Given the description of an element on the screen output the (x, y) to click on. 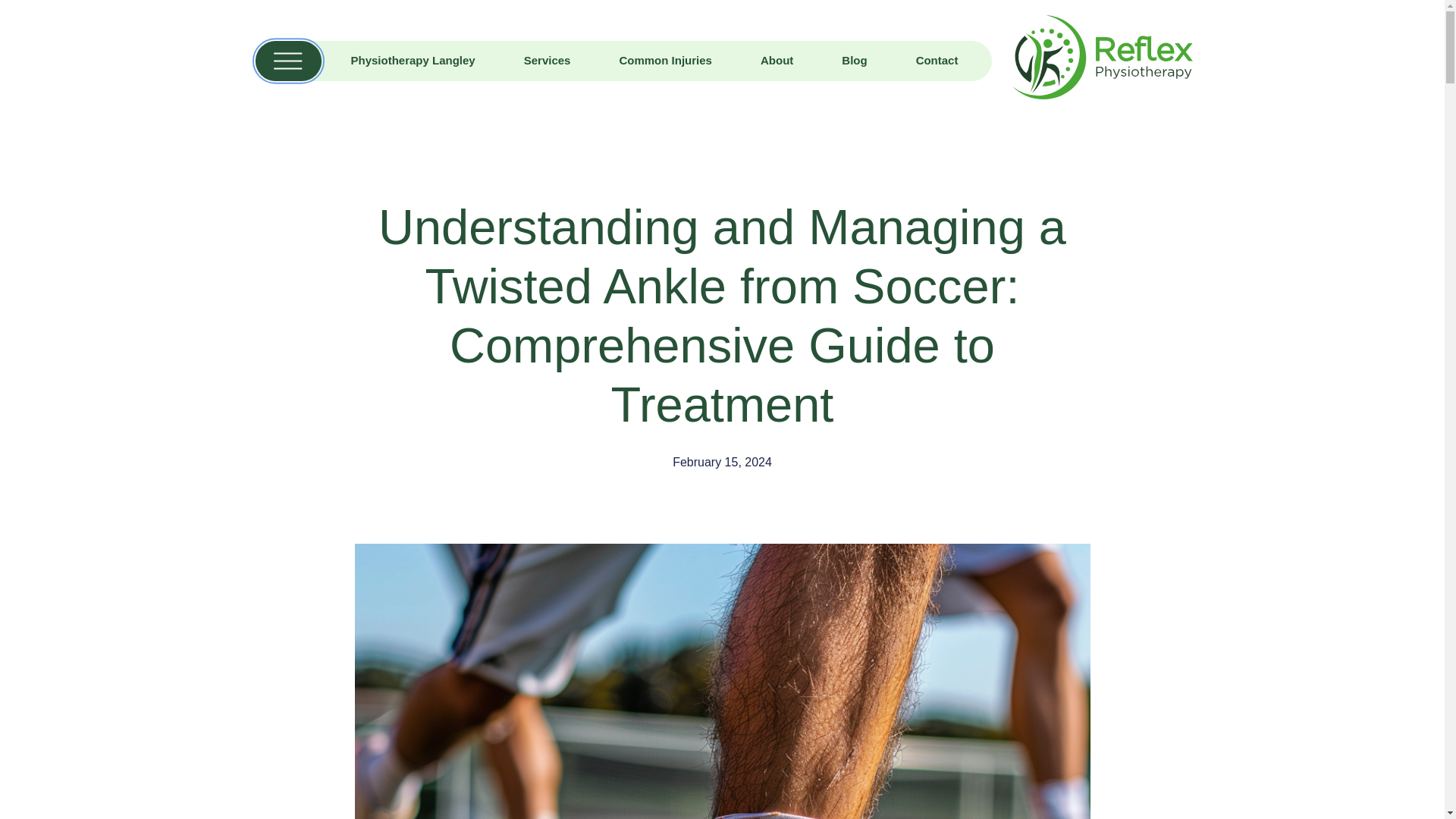
Contact (936, 60)
Physiotherapy Langley (412, 60)
Common Injuries (664, 60)
Blog (853, 60)
About (776, 60)
Services (547, 60)
